Given the description of an element on the screen output the (x, y) to click on. 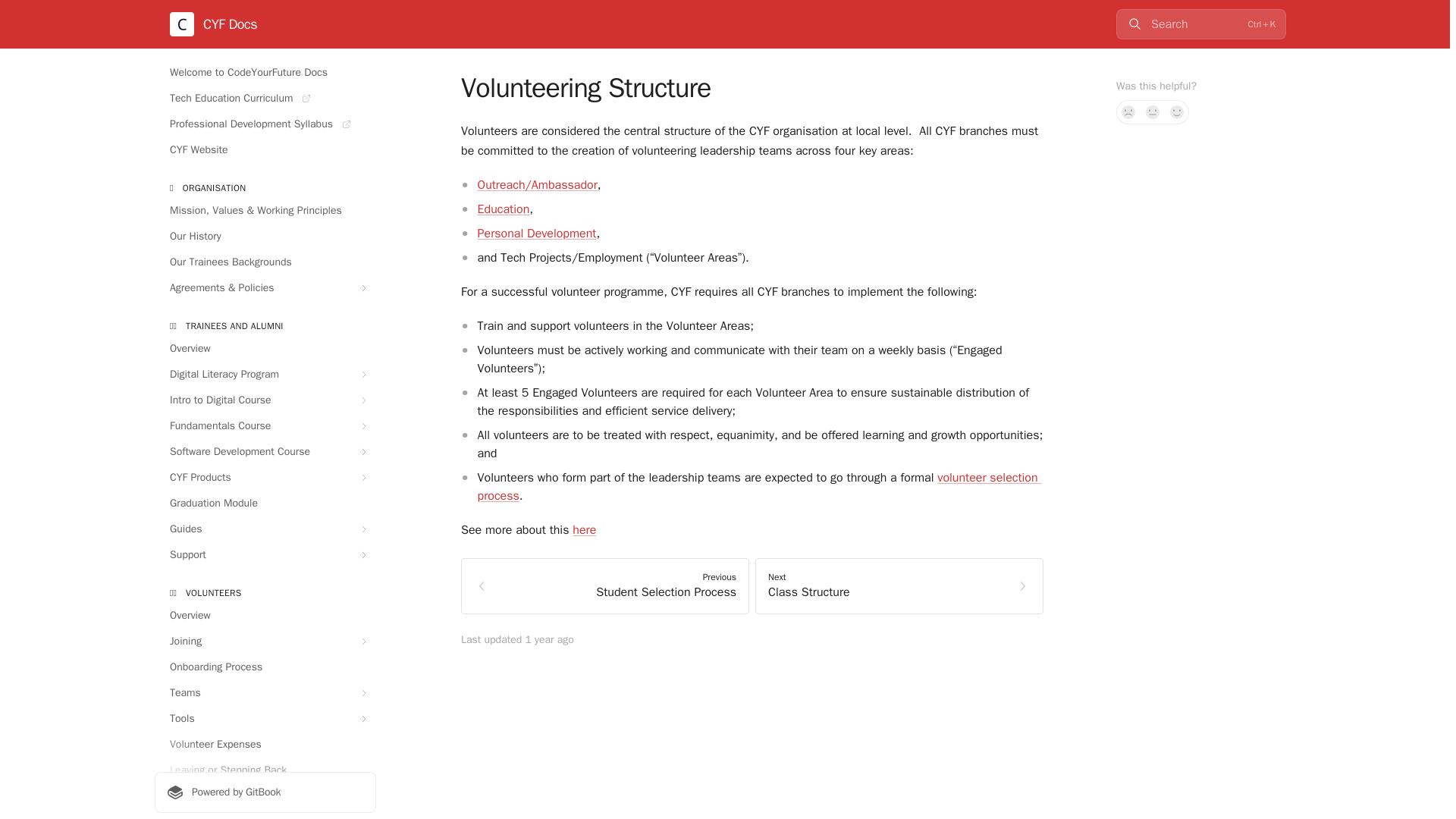
Our Trainees Backgrounds (264, 262)
Tech Education Curriculum (264, 98)
No (1128, 111)
Digital Literacy Program (264, 374)
CYF Docs (213, 24)
CYF Products (264, 477)
Guides (264, 528)
Fundamentals Course (264, 426)
Software Development Course (264, 451)
Yes, it was! (1176, 111)
Graduation Module (264, 503)
CYF Website (264, 150)
Intro to Digital Course (264, 400)
Overview (264, 348)
Our History (264, 236)
